Given the description of an element on the screen output the (x, y) to click on. 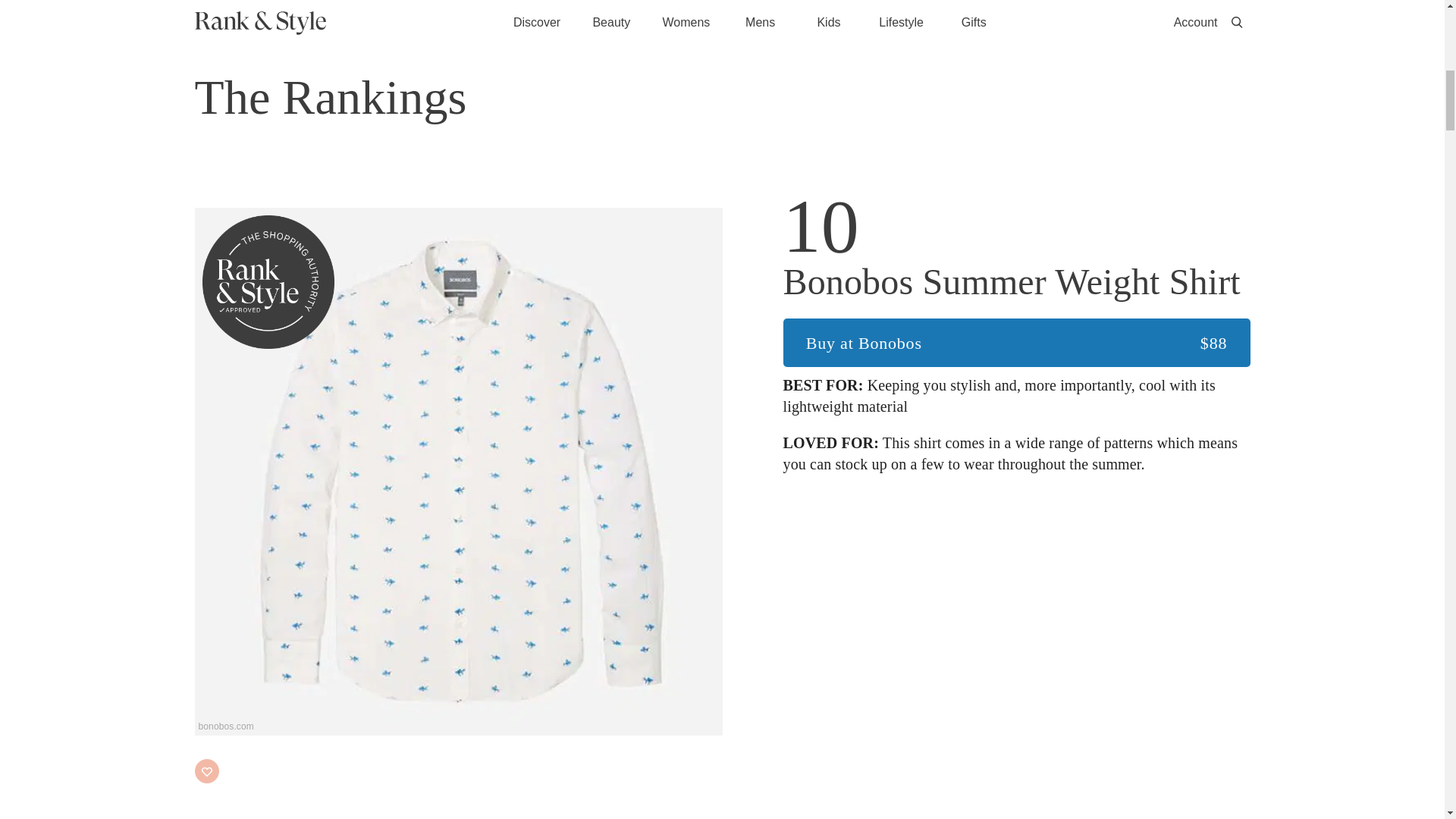
commission (1115, 2)
Bonobos Summer Weight Shirt (1016, 281)
